Given the description of an element on the screen output the (x, y) to click on. 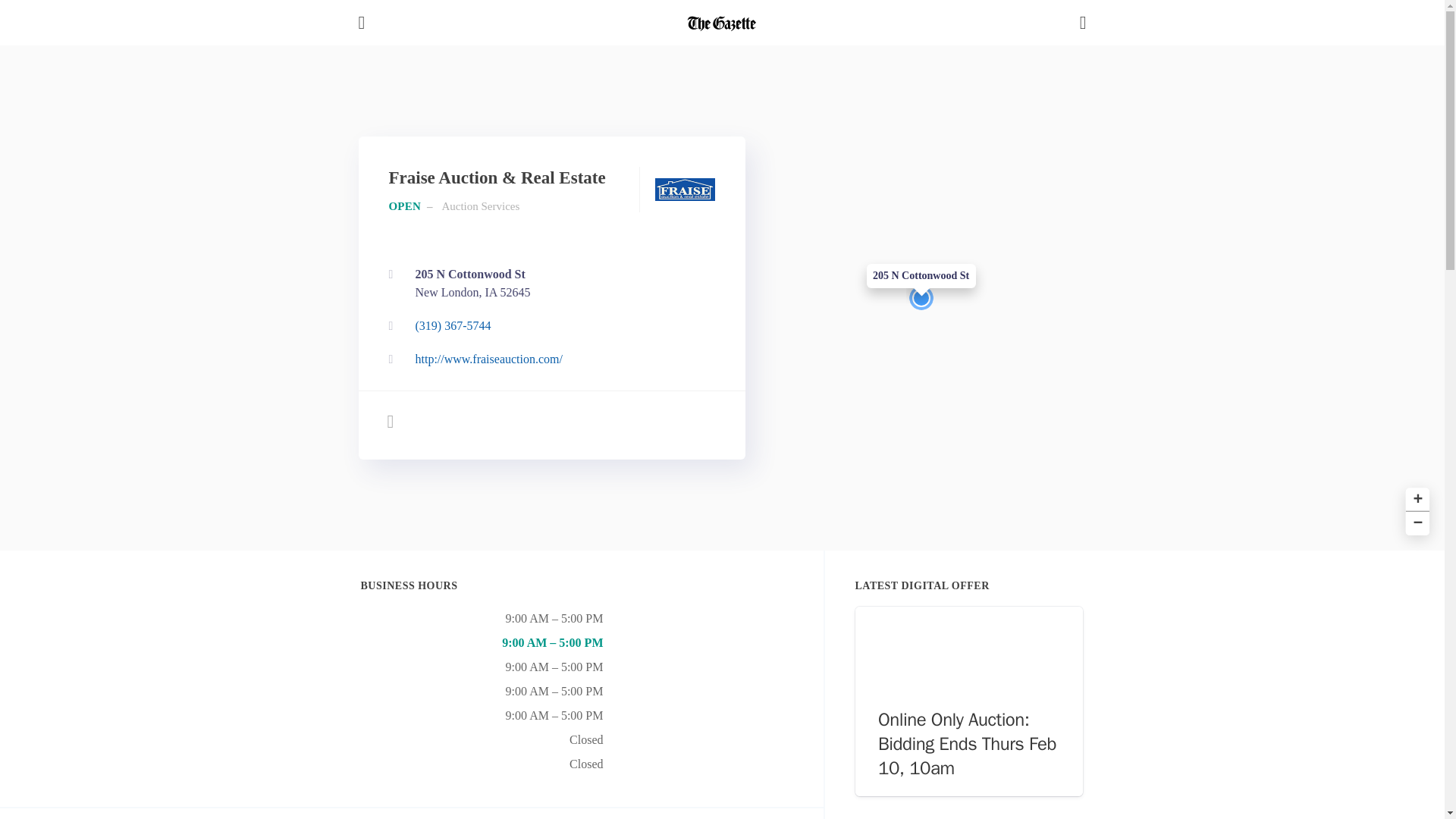
Get directions (547, 283)
Zoom in (1415, 496)
Call Phone Number (547, 326)
Origami widget number: 1643871 (969, 701)
Auction Services (480, 205)
Zoom out (547, 283)
Open website in a new tab (1415, 521)
